Given the description of an element on the screen output the (x, y) to click on. 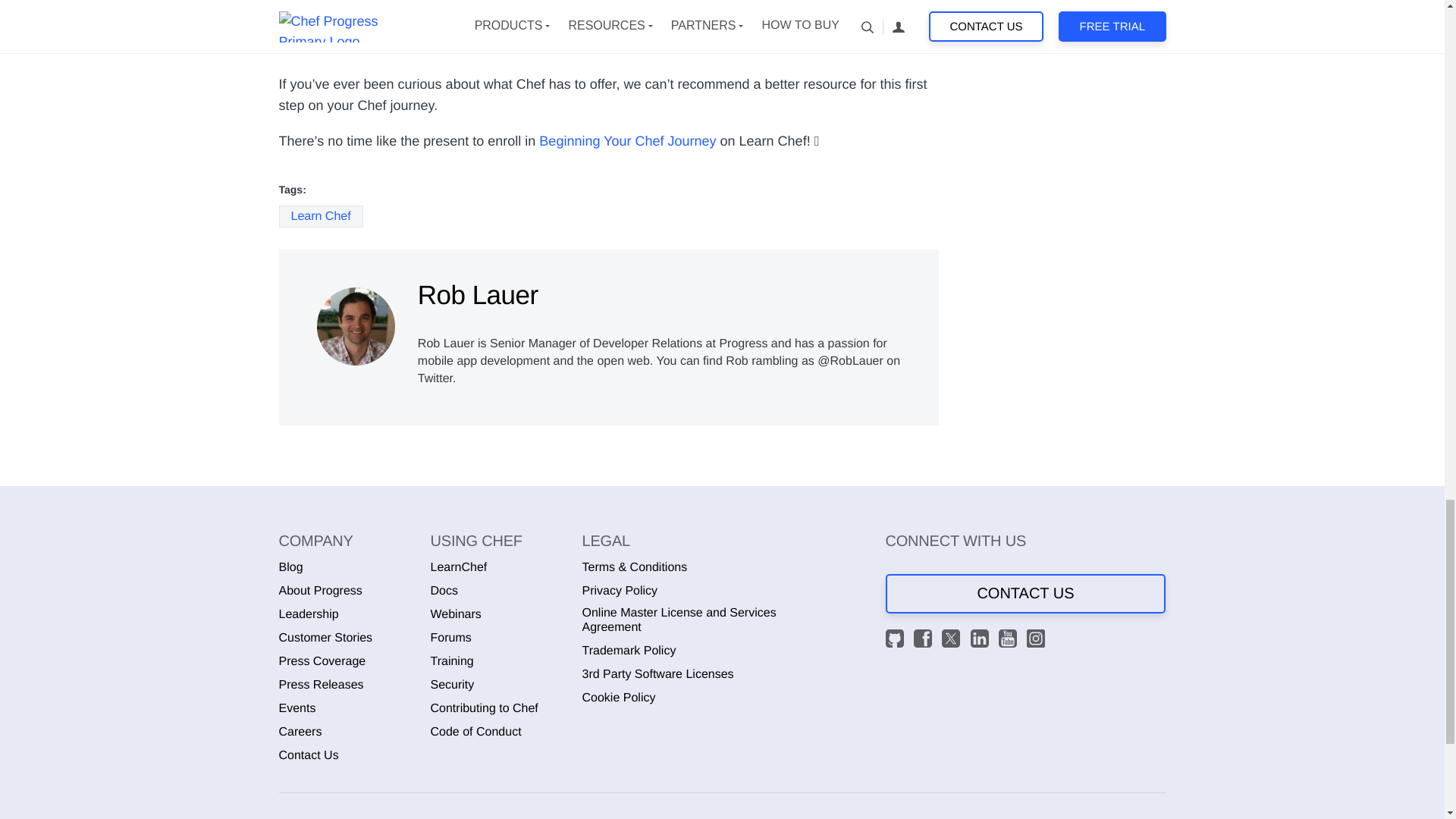
Rob Lauer (355, 326)
Rob Lauer (355, 322)
